Given the description of an element on the screen output the (x, y) to click on. 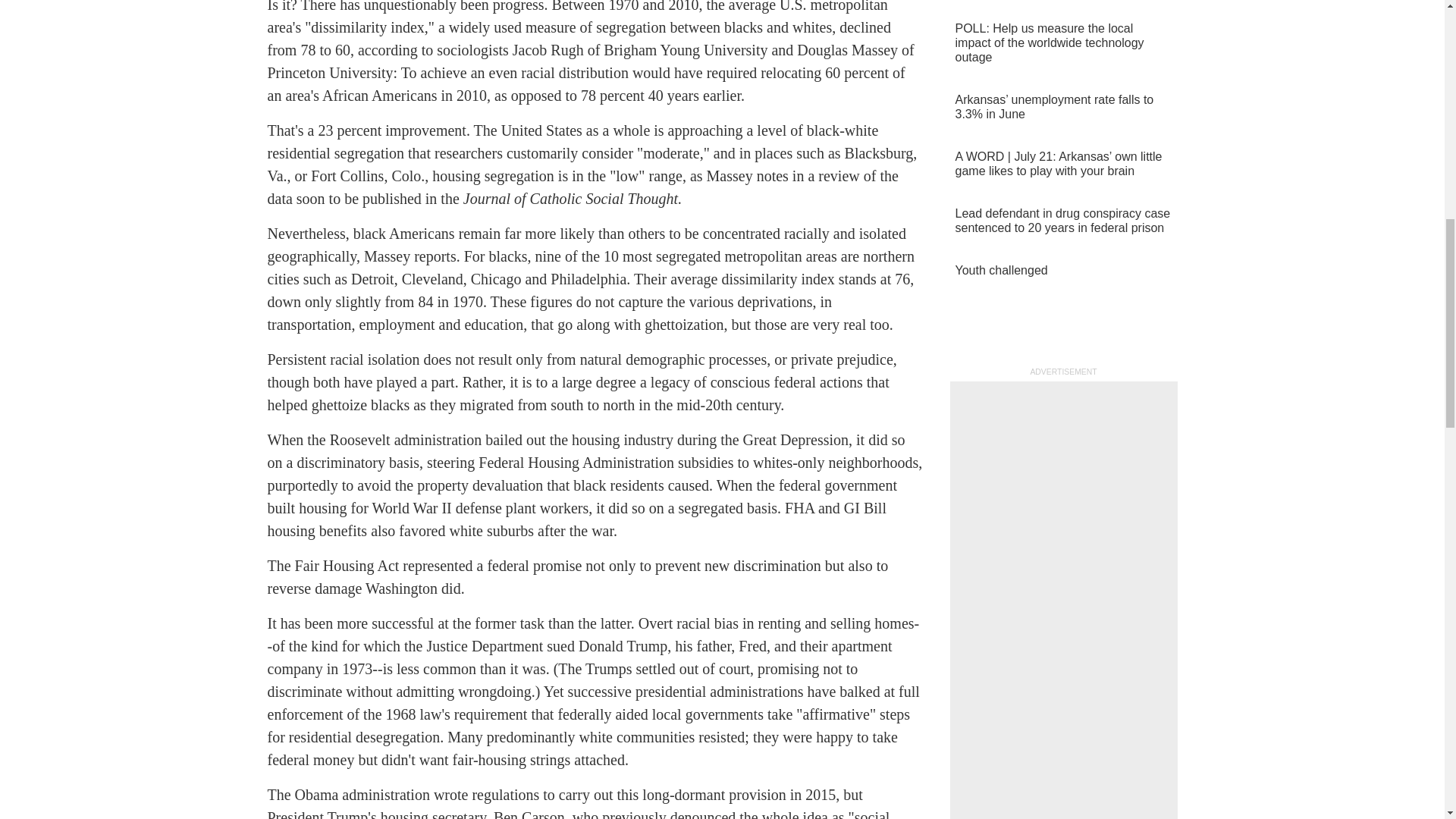
Youth challenged (1062, 269)
